Given the description of an element on the screen output the (x, y) to click on. 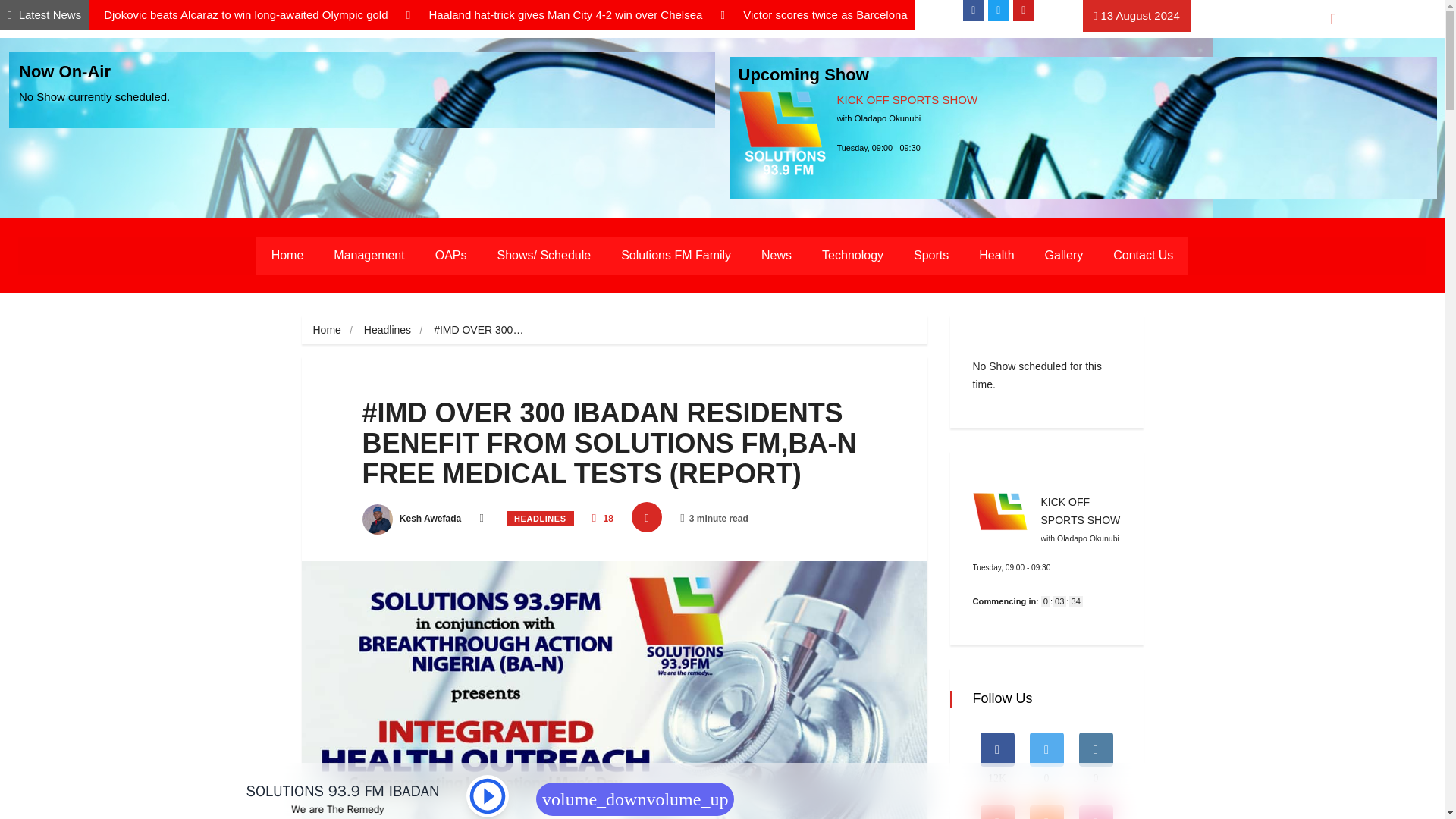
KICK OFF SPORTS SHOW (907, 99)
Health (996, 255)
Management (368, 255)
Haaland hat-trick gives Man City 4-2 win over Chelsea (565, 14)
News (775, 255)
Headlines (387, 329)
Gallery (1064, 255)
OAPs (450, 255)
Home (287, 255)
Kesh Awefada (411, 518)
